Given the description of an element on the screen output the (x, y) to click on. 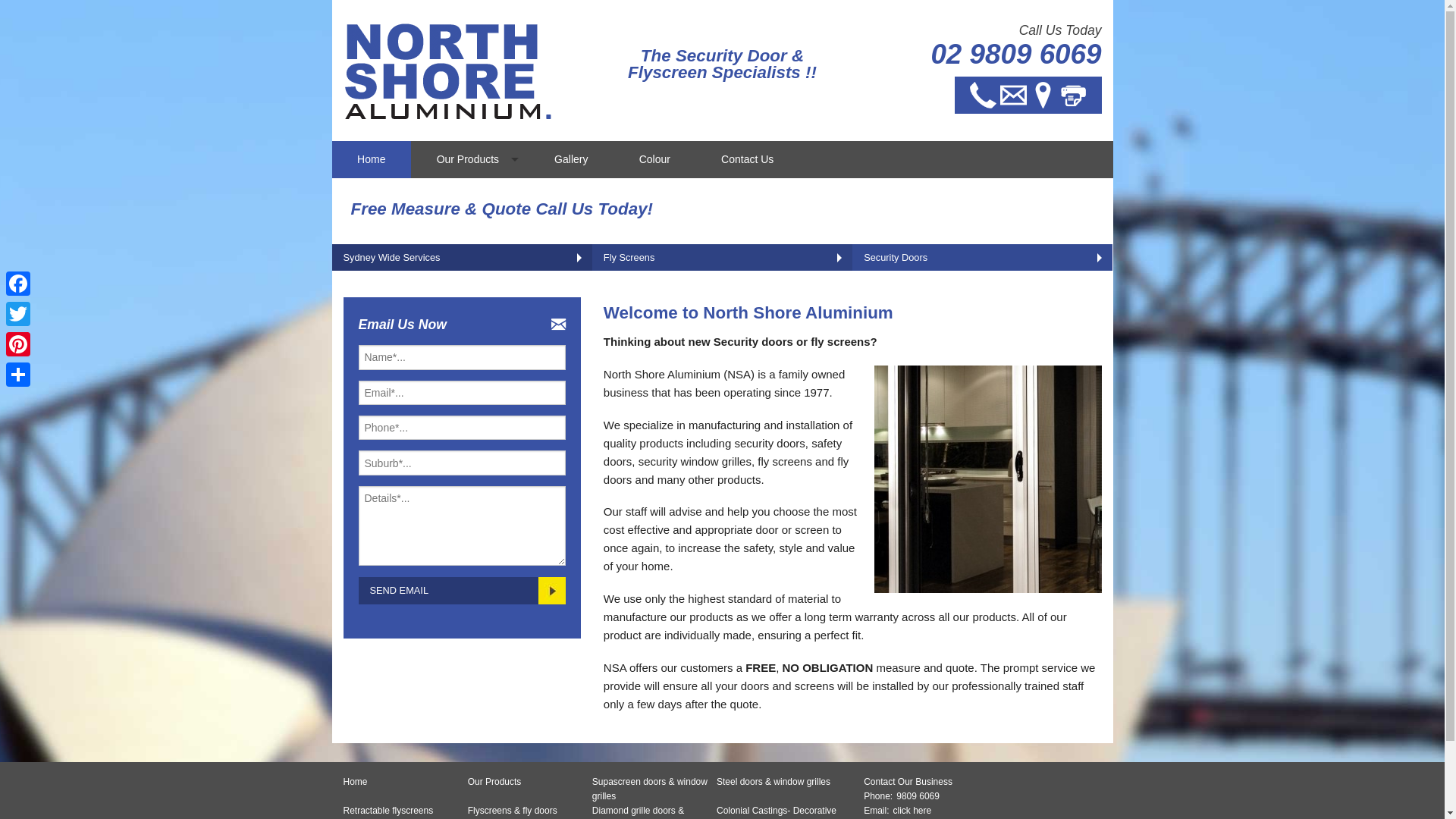
Colour Element type: text (654, 159)
North Shore Aluminium Element type: hover (448, 70)
Sydney Wide Services Element type: text (462, 257)
Fly Screens Element type: text (722, 257)
Our Products Element type: text (469, 159)
Steel doors & window grilles Element type: text (773, 782)
Retractable flyscreens Element type: text (387, 810)
Share Element type: text (18, 374)
Our Products Element type: text (494, 782)
Pinterest Element type: text (18, 344)
Flyscreens & fly doors Element type: text (512, 810)
SEND EMAIL Element type: text (460, 590)
02 9809 6069 Element type: text (1015, 53)
Home Element type: text (371, 159)
click here Element type: text (912, 810)
Home Element type: text (354, 782)
Security Doors Element type: text (982, 257)
Contact Us Element type: text (746, 159)
Supascreen doors & window grilles Element type: text (654, 789)
Gallery Element type: text (571, 159)
Facebook Element type: text (18, 283)
Twitter Element type: text (18, 313)
